Given the description of an element on the screen output the (x, y) to click on. 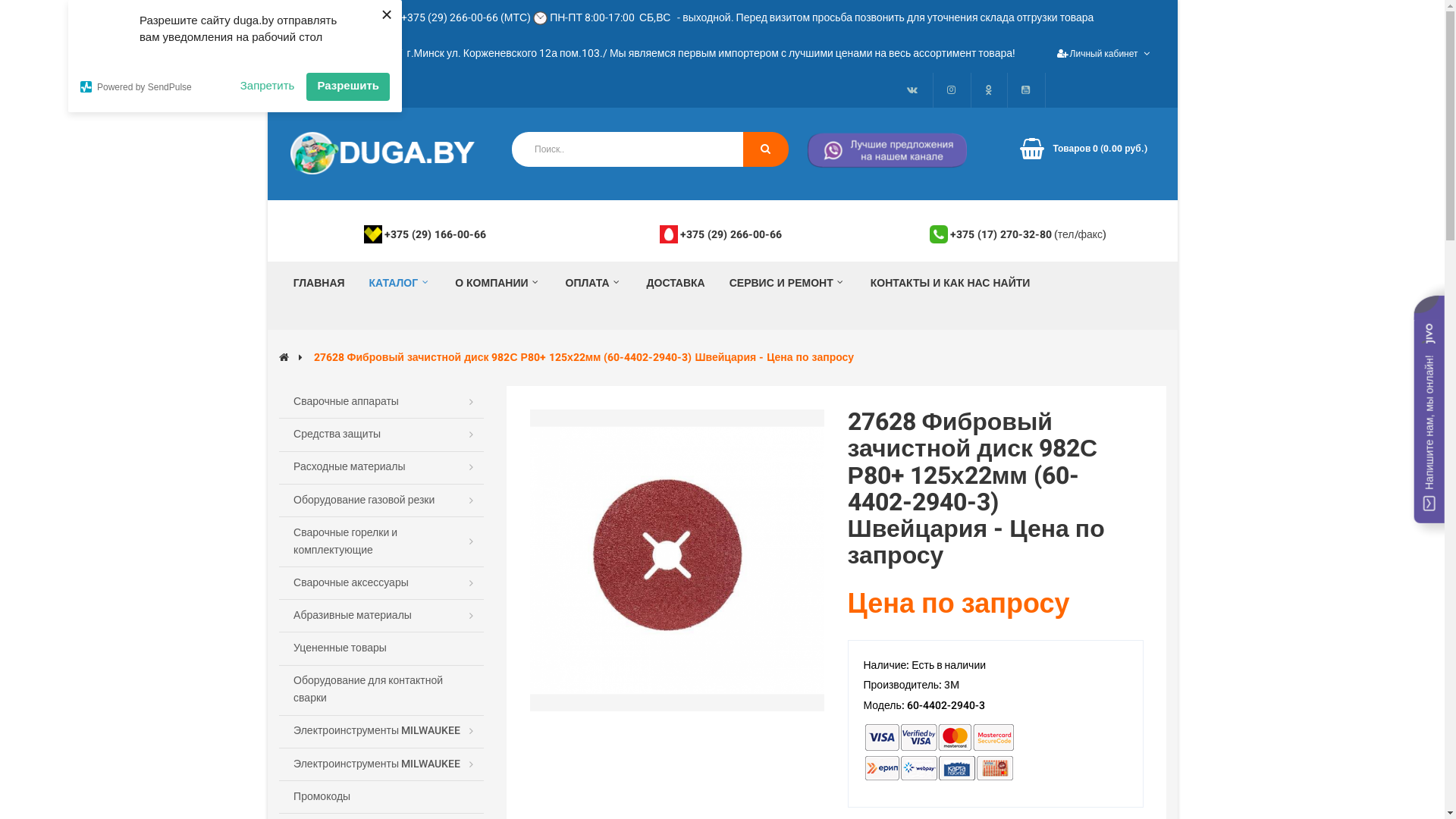
+375 (17) 270-32-80 Element type: text (1000, 233)
+375 (29) 266-00-66 Element type: text (730, 233)
3M Element type: text (951, 685)
+375 (29) 166-00-66 Element type: text (435, 233)
duga@belsvamo.by Element type: text (342, 53)
Powered by SendPulse Element type: text (154, 86)
